Given the description of an element on the screen output the (x, y) to click on. 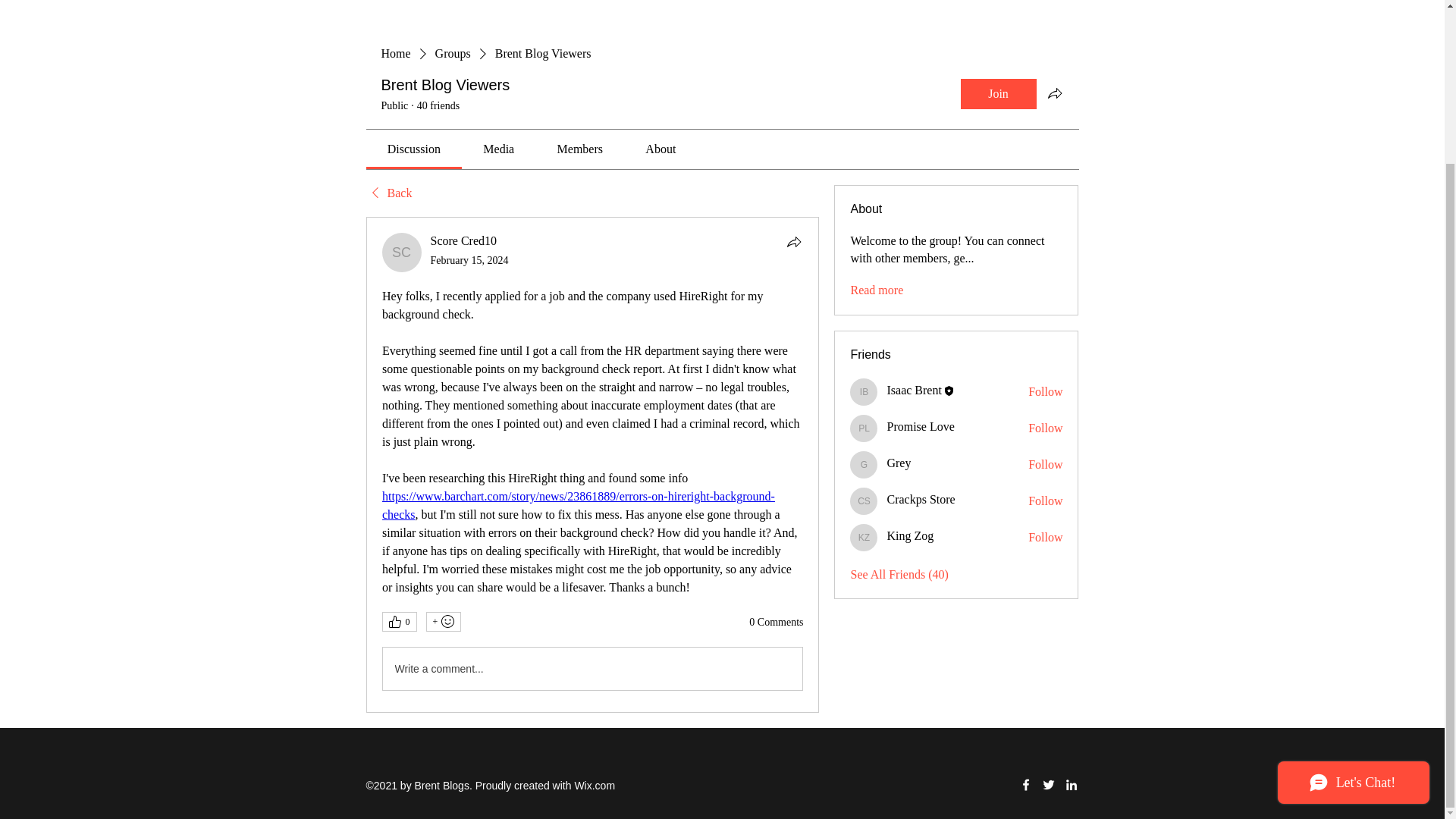
Write a comment... (591, 668)
Score Cred10 (463, 240)
0 Comments (776, 622)
Promise Love (863, 428)
February 15, 2024 (469, 260)
Follow (1044, 428)
King Zog (909, 535)
Score Cred10 (401, 251)
Isaac Brent (863, 391)
Join (997, 93)
Crackps Store (920, 499)
Home (395, 53)
Follow (1044, 501)
Back (388, 193)
